Given the description of an element on the screen output the (x, y) to click on. 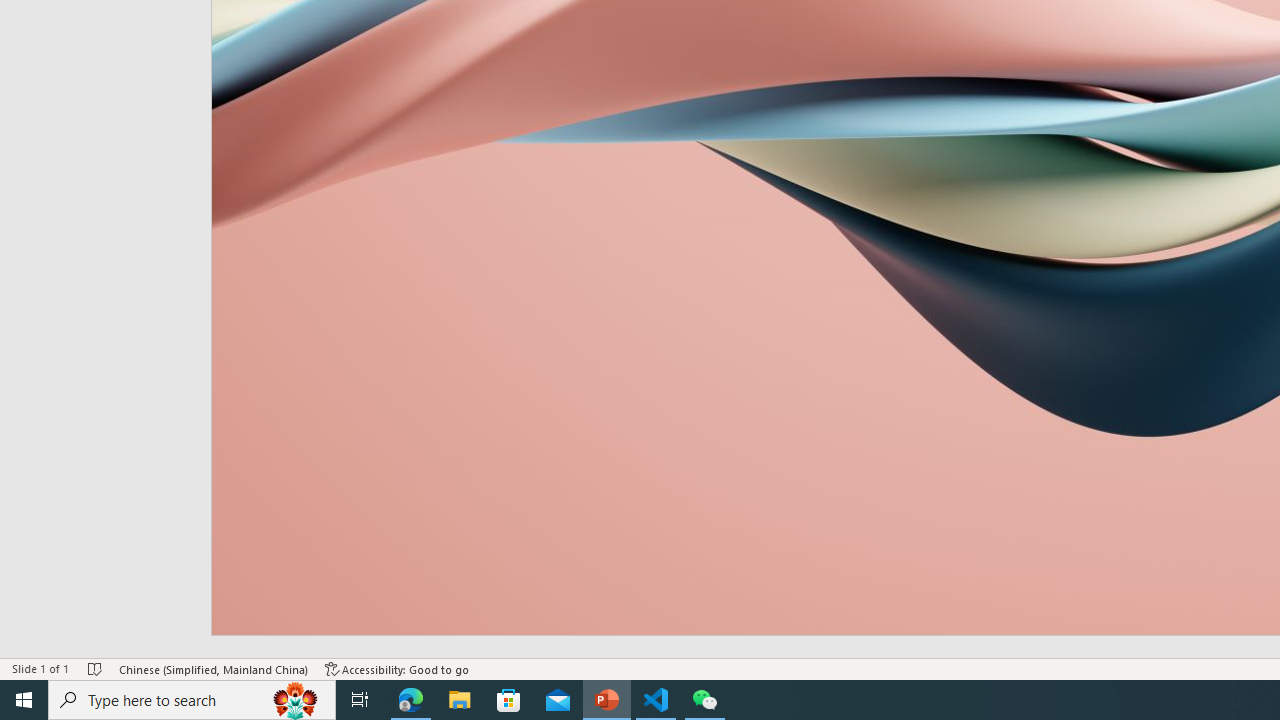
Accessibility Checker Accessibility: Good to go (397, 668)
